Given the description of an element on the screen output the (x, y) to click on. 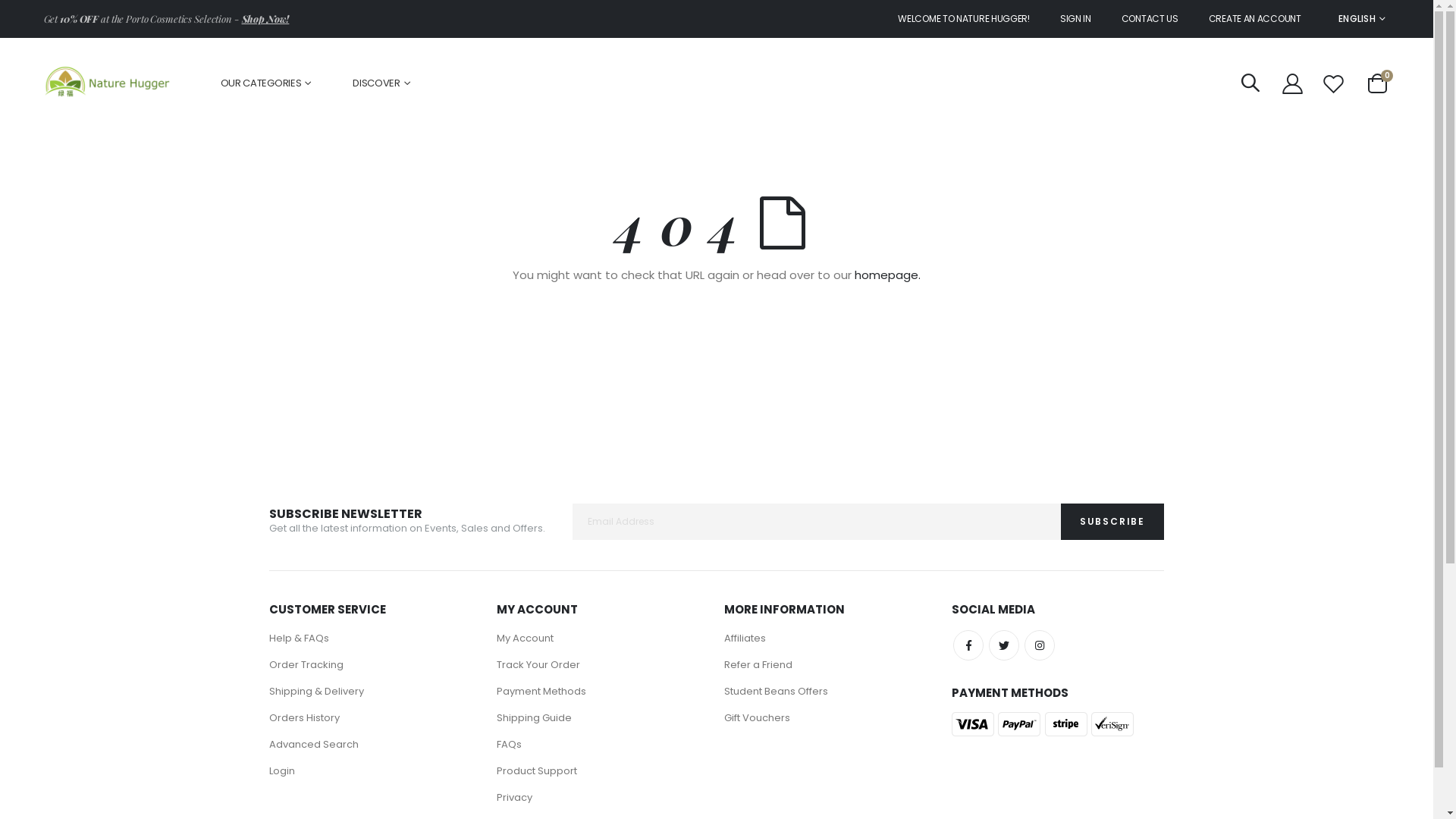
CREATE AN ACCOUNT Element type: text (1254, 18)
Order Tracking Element type: text (306, 664)
Payment Methods Element type: text (541, 691)
Shop Now! Element type: text (264, 18)
Affiliates Element type: text (744, 637)
Gift Vouchers Element type: text (757, 717)
SUBSCRIBE Element type: text (1112, 521)
Help & FAQs Element type: text (299, 637)
Product Support Element type: text (536, 770)
homepage. Element type: text (887, 274)
My Account Element type: hover (1291, 82)
DISCOVER Element type: text (380, 83)
My Account Element type: text (524, 637)
Instagram Element type: text (1039, 645)
Nature Hugger Element type: hover (108, 82)
Twitter Element type: text (1003, 645)
FAQs Element type: text (508, 744)
Wishlist Element type: hover (1333, 82)
Track Your Order Element type: text (538, 664)
Orders History Element type: text (304, 717)
Privacy Element type: text (514, 797)
Advanced Search Element type: text (313, 744)
Student Beans Offers Element type: text (776, 691)
Shipping & Delivery Element type: text (316, 691)
Shipping Guide Element type: text (533, 717)
SIGN IN Element type: text (1075, 18)
OUR CATEGORIES Element type: text (266, 83)
CONTACT US Element type: text (1149, 18)
Login Element type: text (281, 770)
Refer a Friend Element type: text (758, 664)
Cart
0
items Element type: text (1377, 83)
Facebook Element type: text (968, 645)
